Given the description of an element on the screen output the (x, y) to click on. 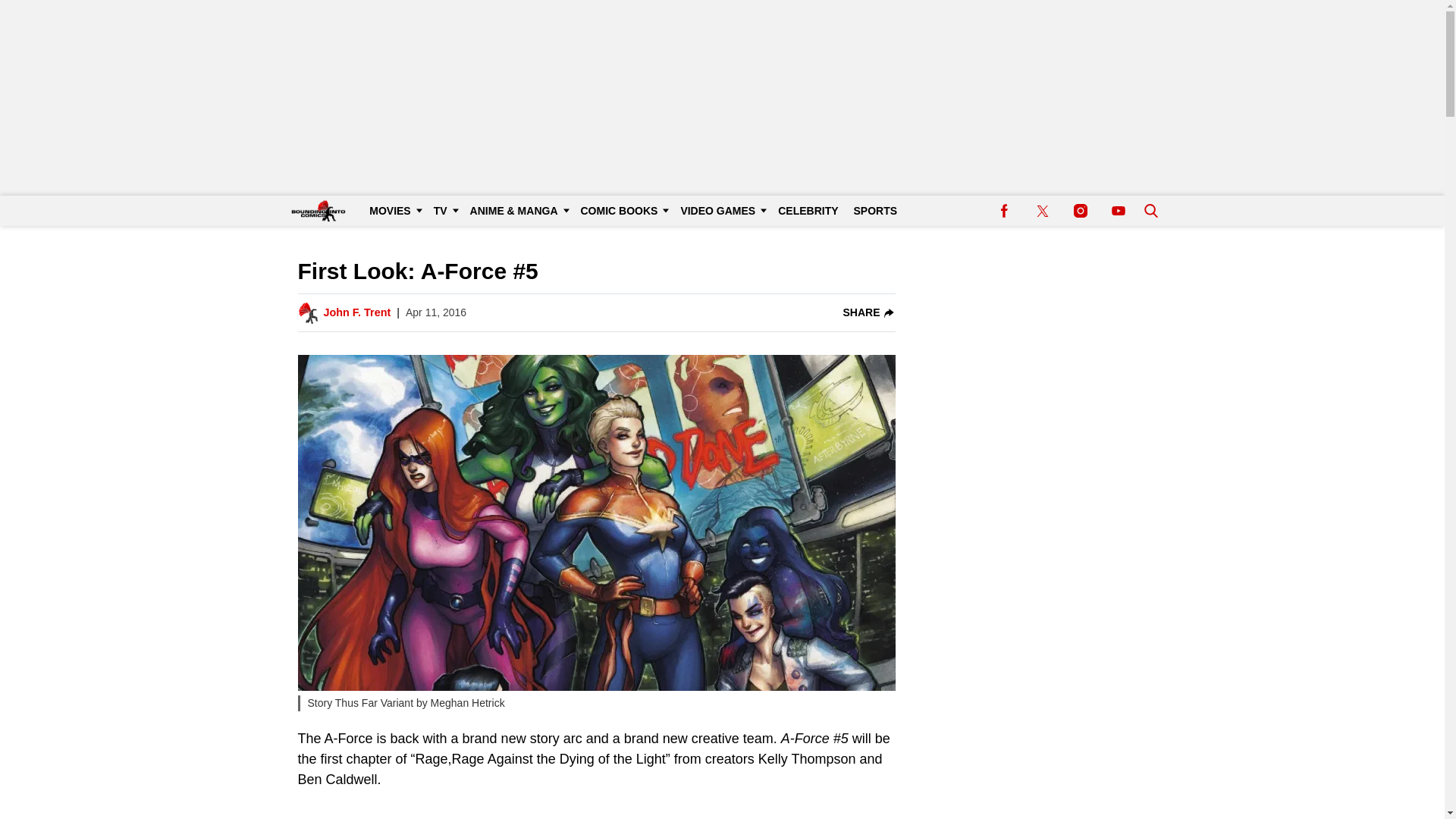
TV (444, 210)
MOVIES (393, 210)
SPORTS (875, 210)
Subscribe to our YouTube channel (1118, 210)
Follow us on Facebook (1004, 210)
Posts by John F. Trent (356, 312)
John F. Trent (356, 312)
Follow us on Instagram (1080, 210)
COMIC BOOKS (622, 210)
Follow us on Twitter (1042, 210)
